Given the description of an element on the screen output the (x, y) to click on. 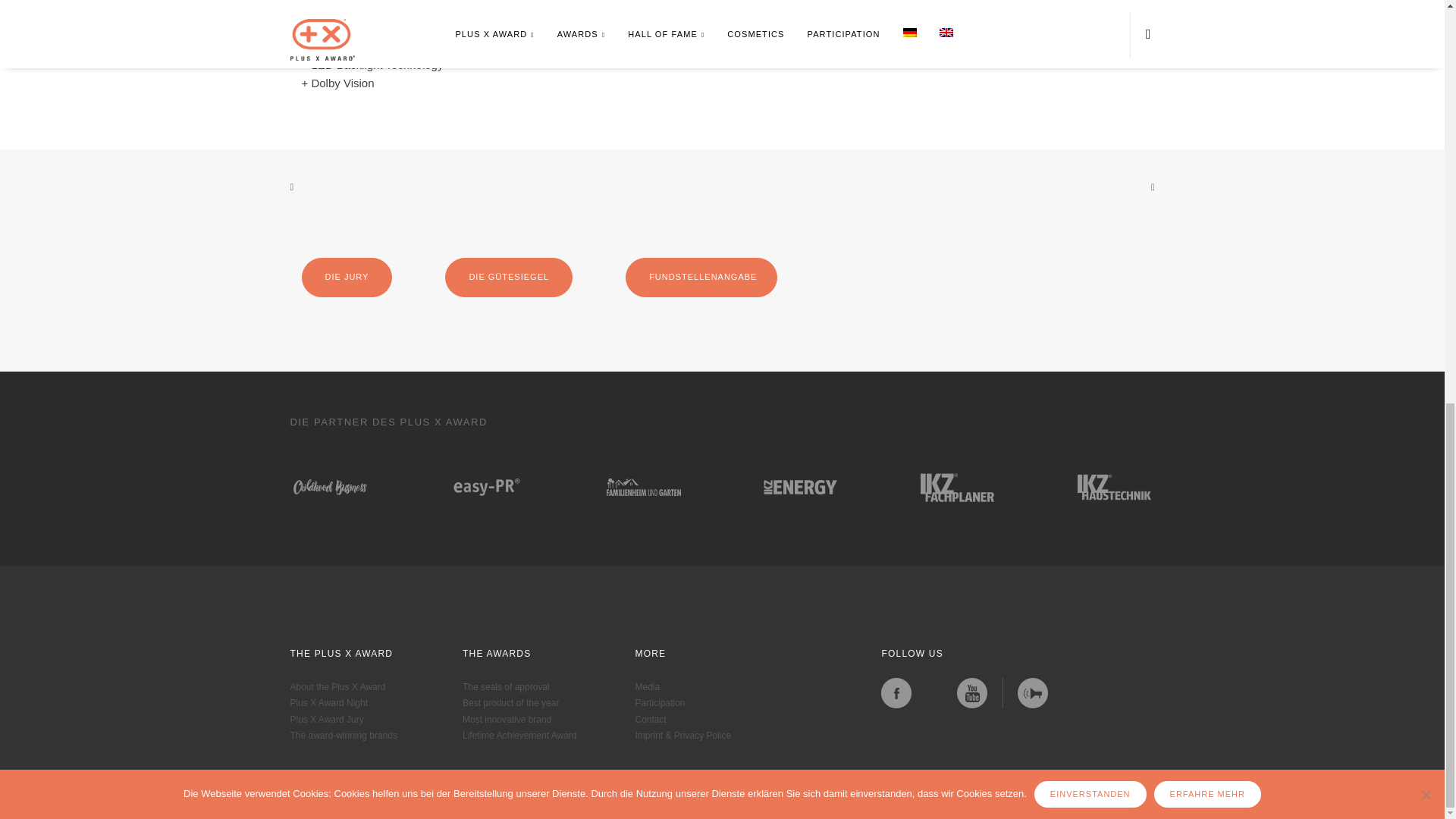
Nein (1425, 4)
facebook (895, 693)
YouTube (971, 693)
Presse (1032, 693)
